Given the description of an element on the screen output the (x, y) to click on. 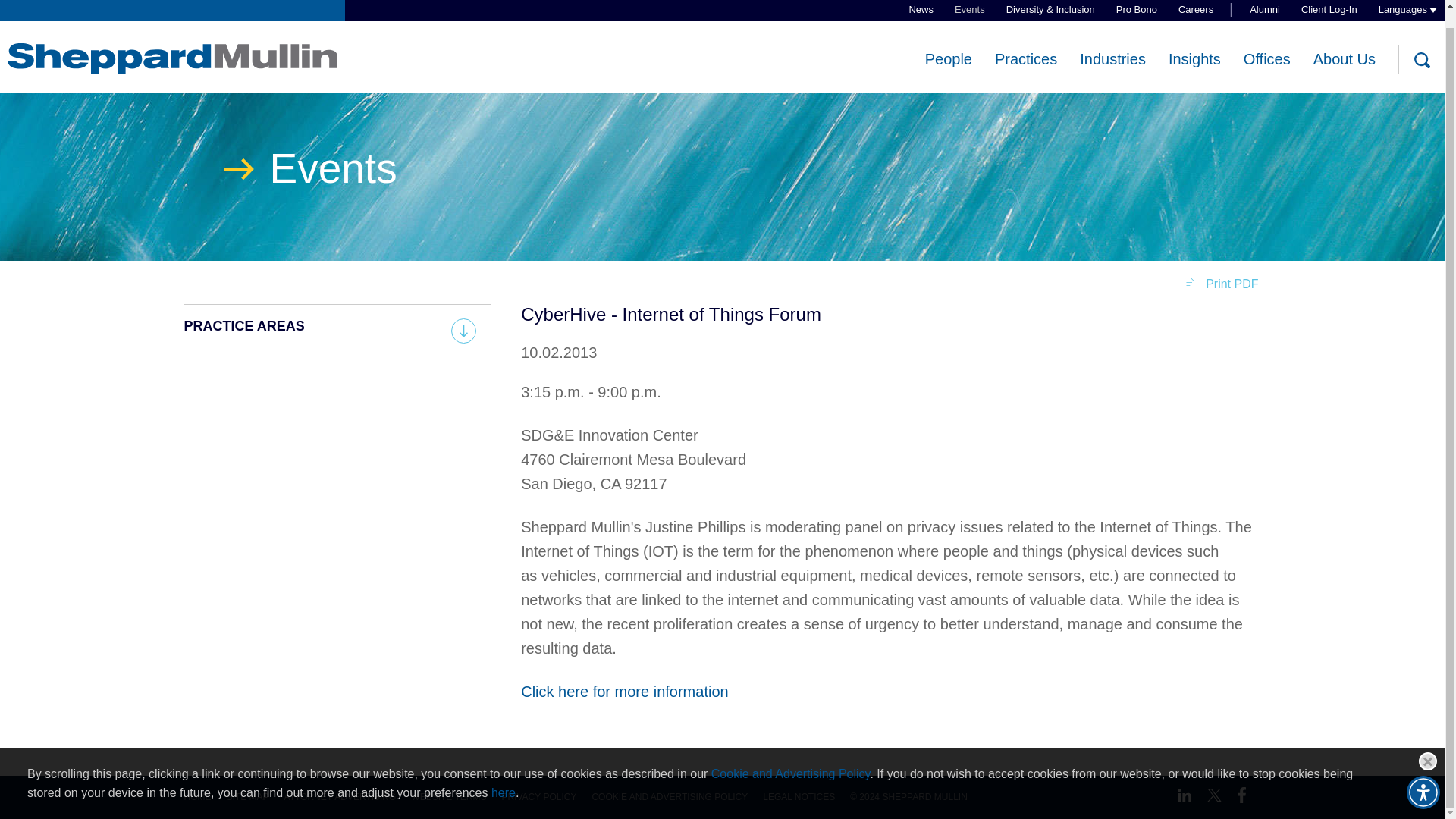
Menu (673, 9)
Main Content (666, 9)
People (948, 42)
Practices (1025, 42)
Main Menu (673, 9)
